Given the description of an element on the screen output the (x, y) to click on. 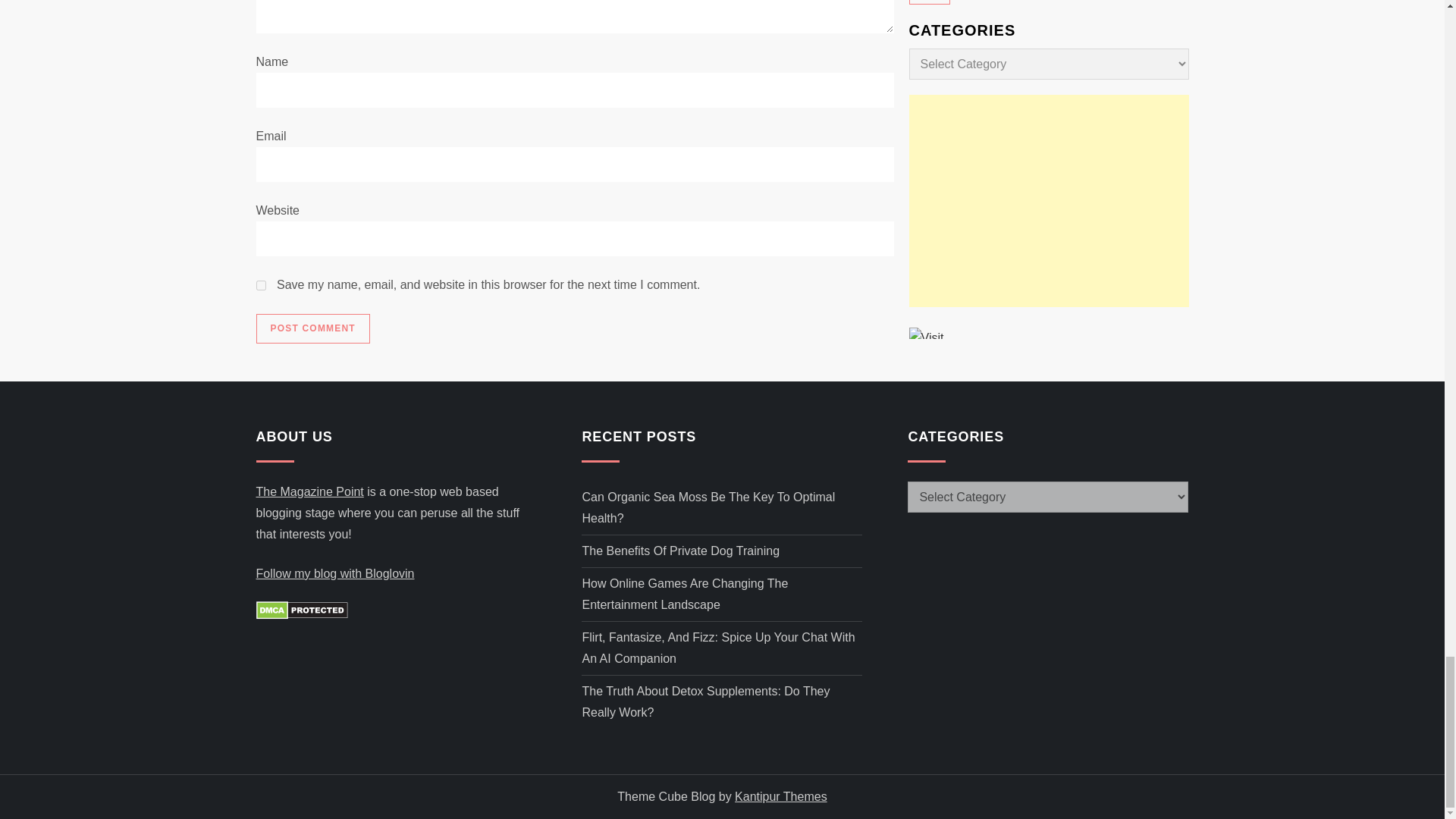
Post Comment (312, 328)
yes (261, 285)
DMCA.com Protection Status (301, 609)
